Given the description of an element on the screen output the (x, y) to click on. 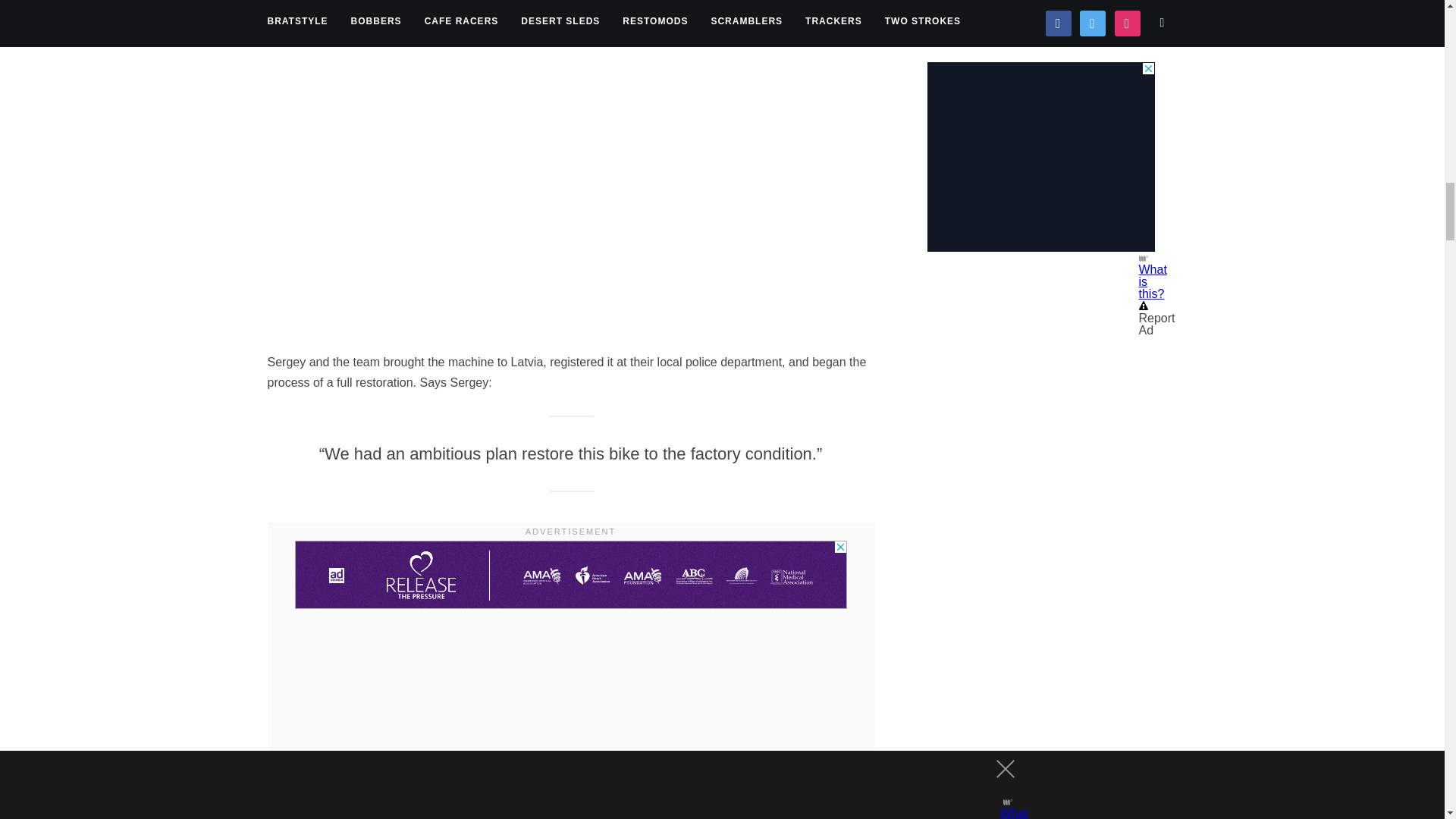
3rd party ad content (569, 574)
